Given the description of an element on the screen output the (x, y) to click on. 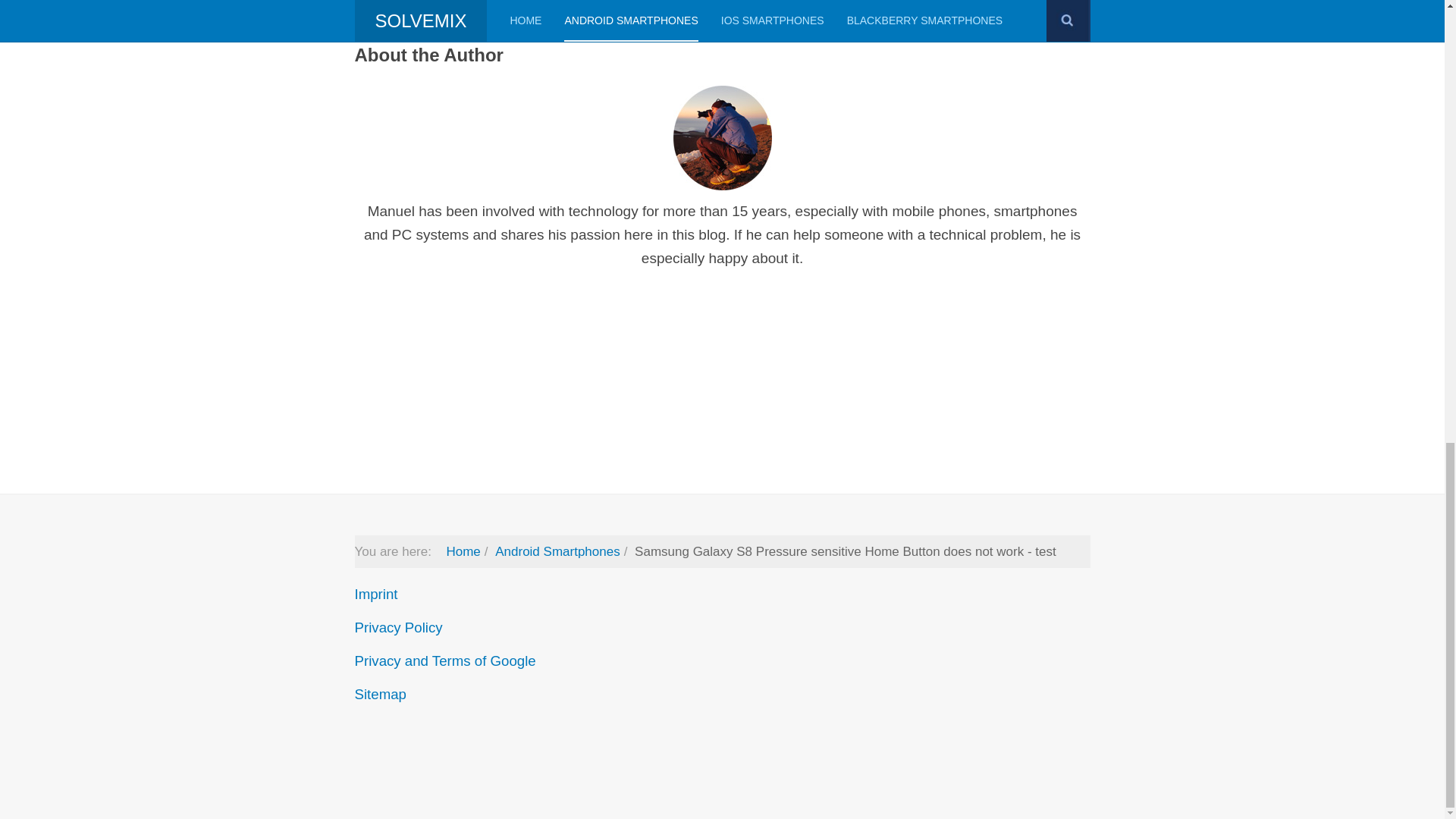
Android Smartphones (557, 551)
Home (462, 551)
Sitemap (380, 693)
Privacy and Terms of Google (445, 660)
Imprint (376, 593)
Privacy Policy (398, 627)
